Given the description of an element on the screen output the (x, y) to click on. 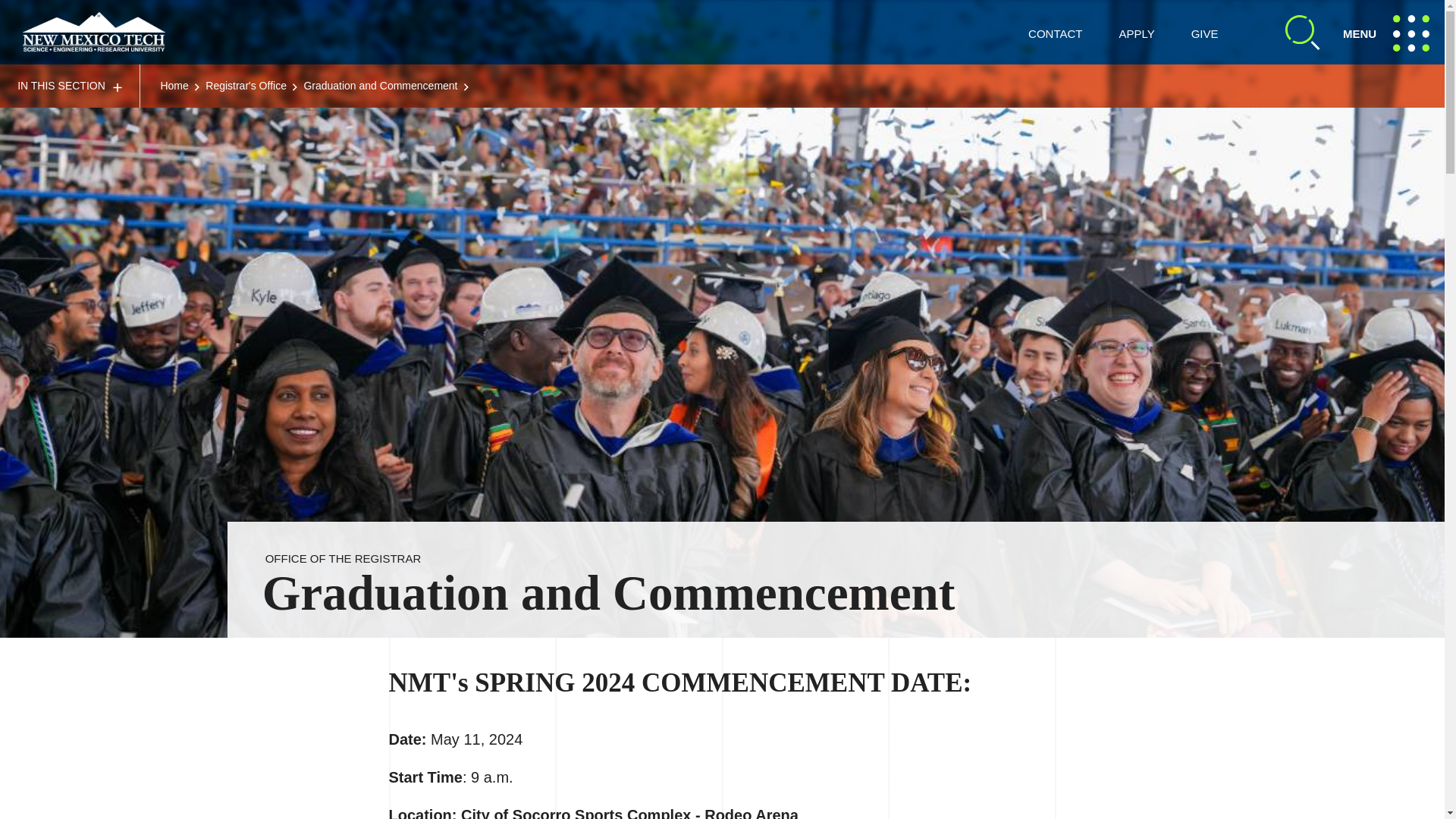
IN THIS SECTION (69, 85)
Home (173, 85)
CONTACT (1054, 33)
APPLY (1135, 33)
New Mexico Tech - Home (94, 32)
Registrar's Office (245, 85)
GIVE (1204, 33)
expand search (1391, 32)
